Given the description of an element on the screen output the (x, y) to click on. 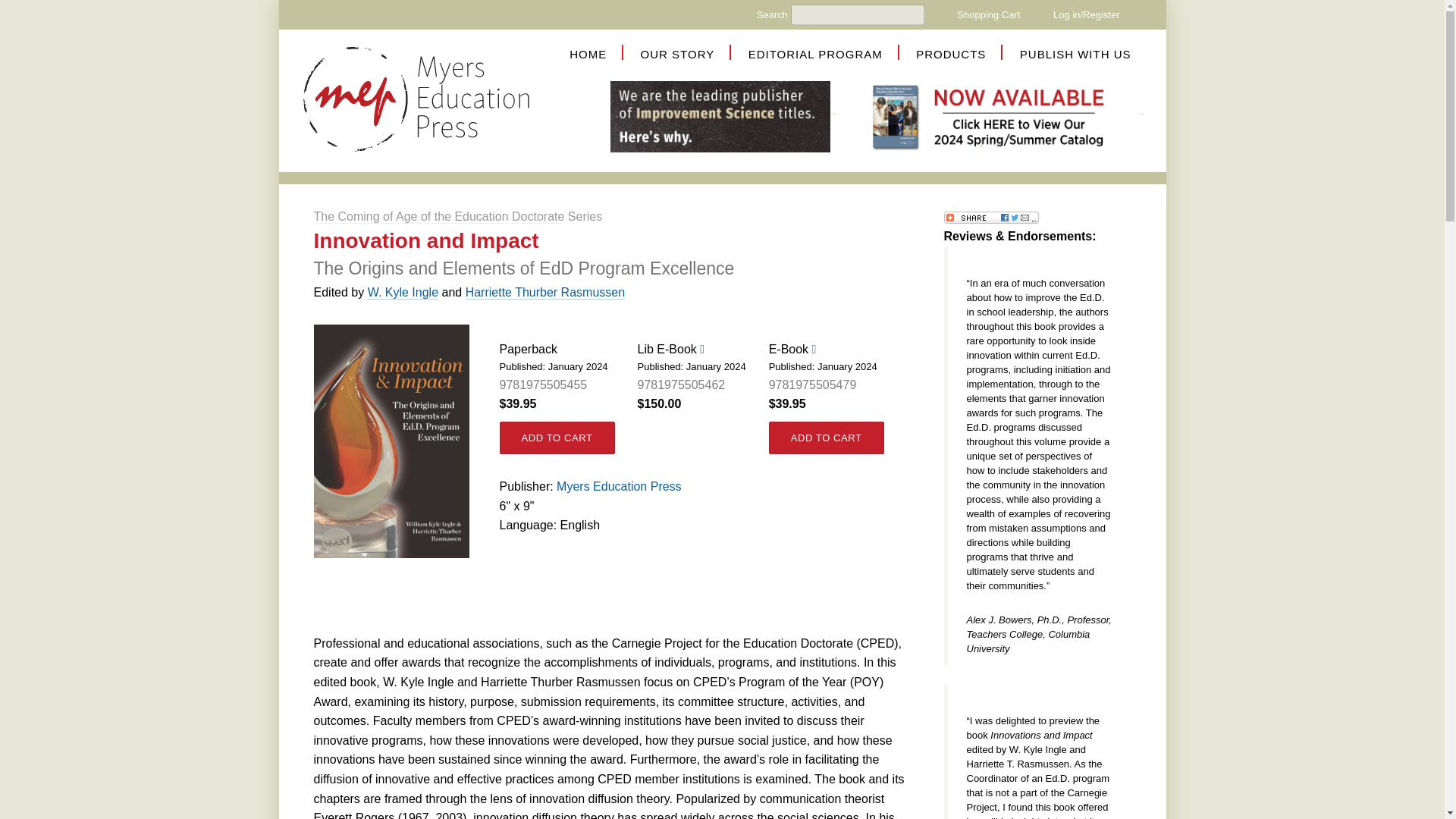
PUBLISH WITH US (1075, 53)
W. Kyle Ingle (403, 292)
HOME (588, 53)
The Coming of Age of the Education Doctorate (439, 216)
Shopping Cart (988, 14)
Previous (838, 113)
PRODUCTS (950, 53)
ADD TO CART (825, 437)
Next (1143, 113)
2 (996, 145)
